Given the description of an element on the screen output the (x, y) to click on. 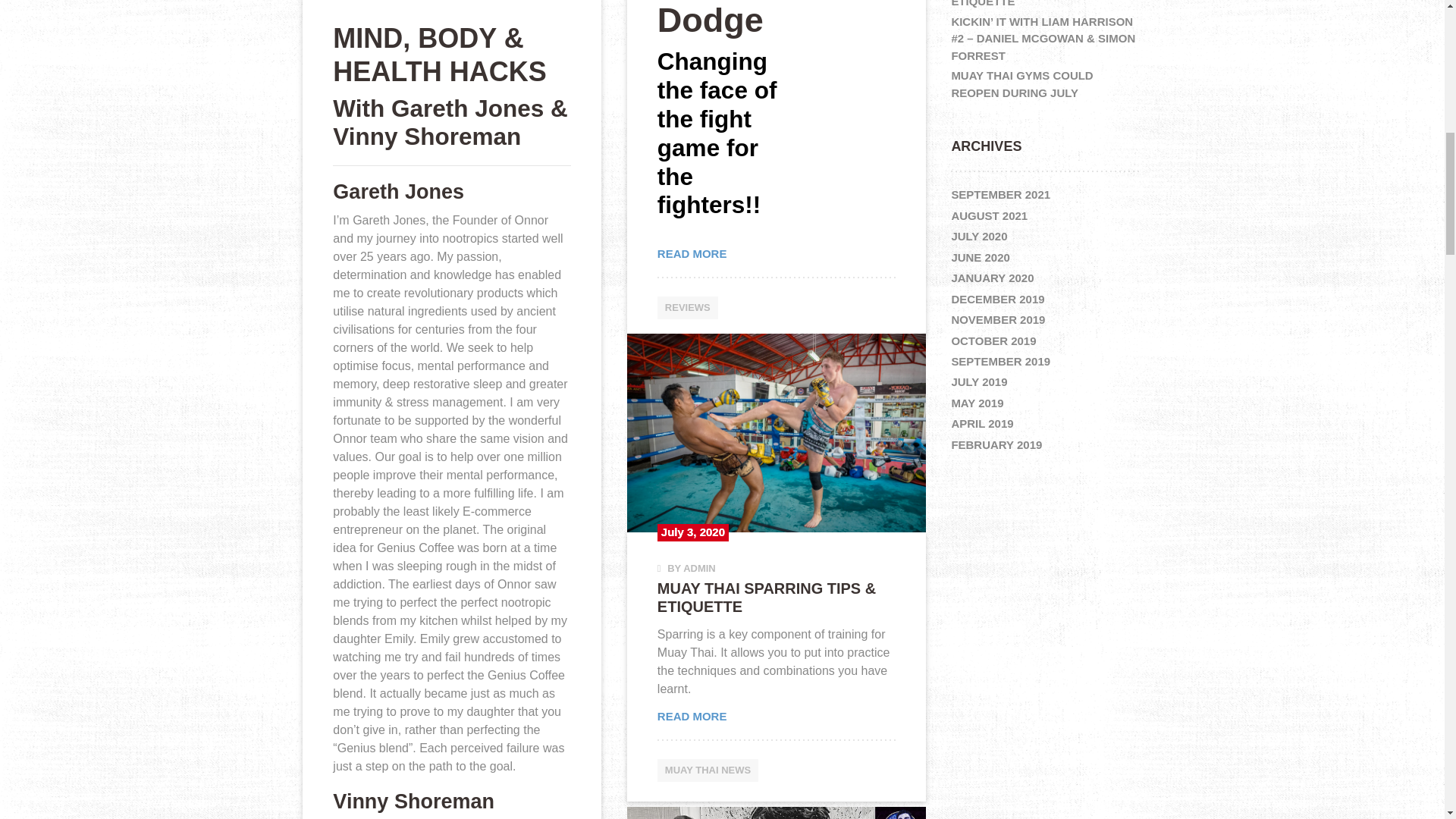
READ MORE (776, 253)
REVIEWS (687, 308)
